Given the description of an element on the screen output the (x, y) to click on. 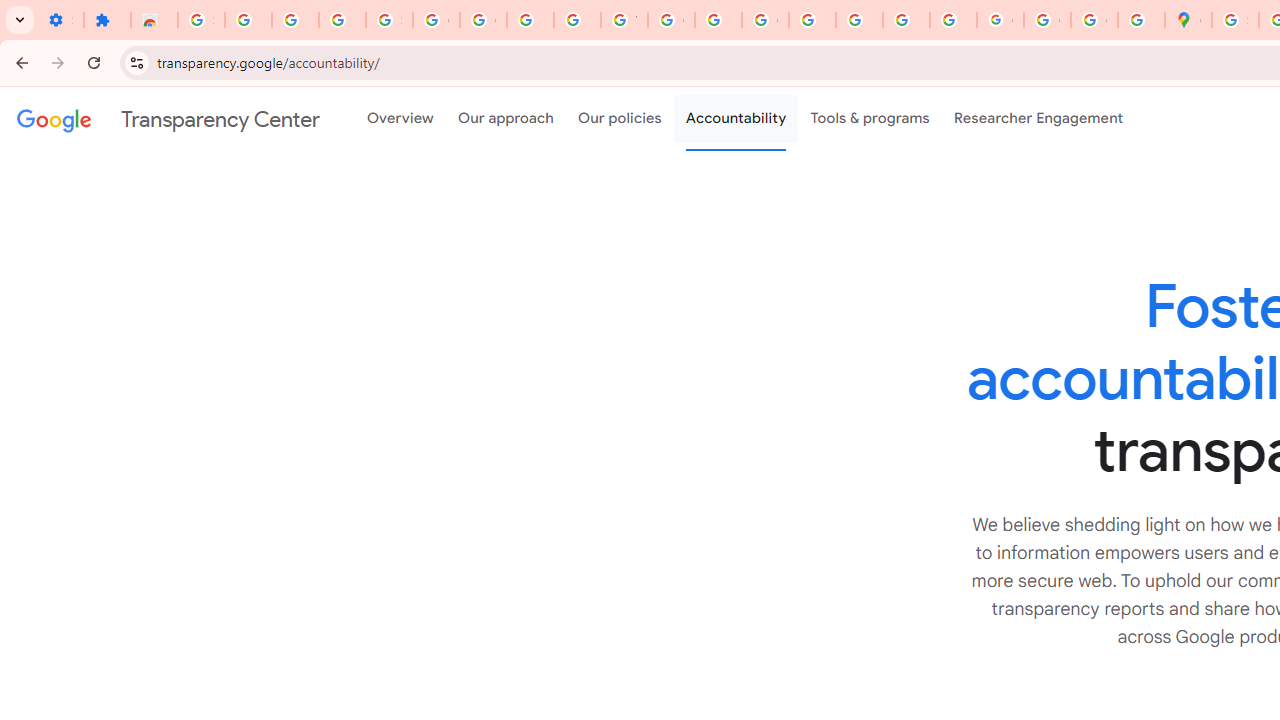
Accountability (735, 119)
Privacy Help Center - Policies Help (811, 20)
Transparency Center (167, 119)
Our approach (506, 119)
Researcher Engagement (1038, 119)
YouTube (623, 20)
Our policies (619, 119)
Extensions (107, 20)
Tools & programs (869, 119)
